Given the description of an element on the screen output the (x, y) to click on. 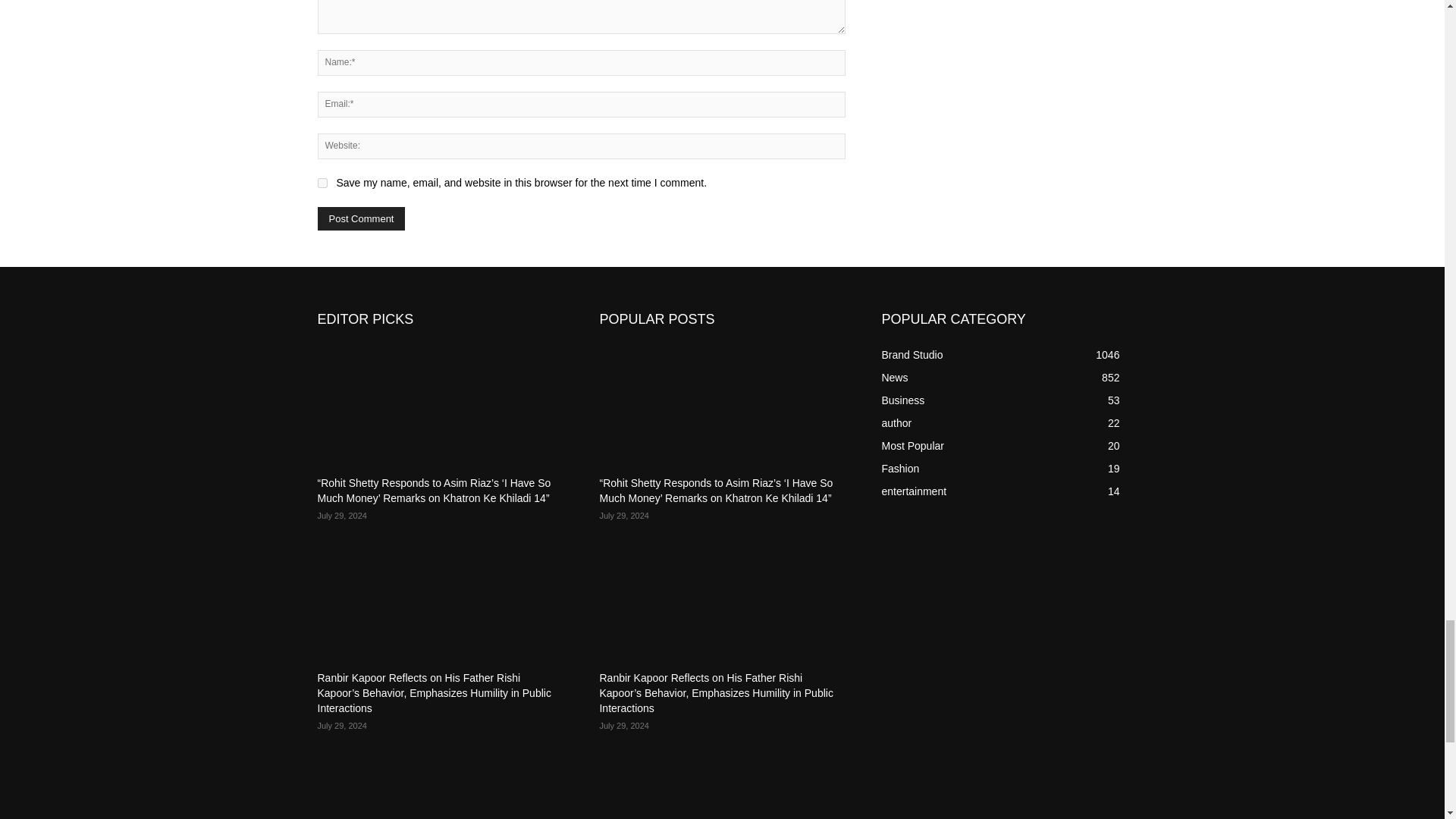
yes (321, 183)
Post Comment (360, 218)
